Given the description of an element on the screen output the (x, y) to click on. 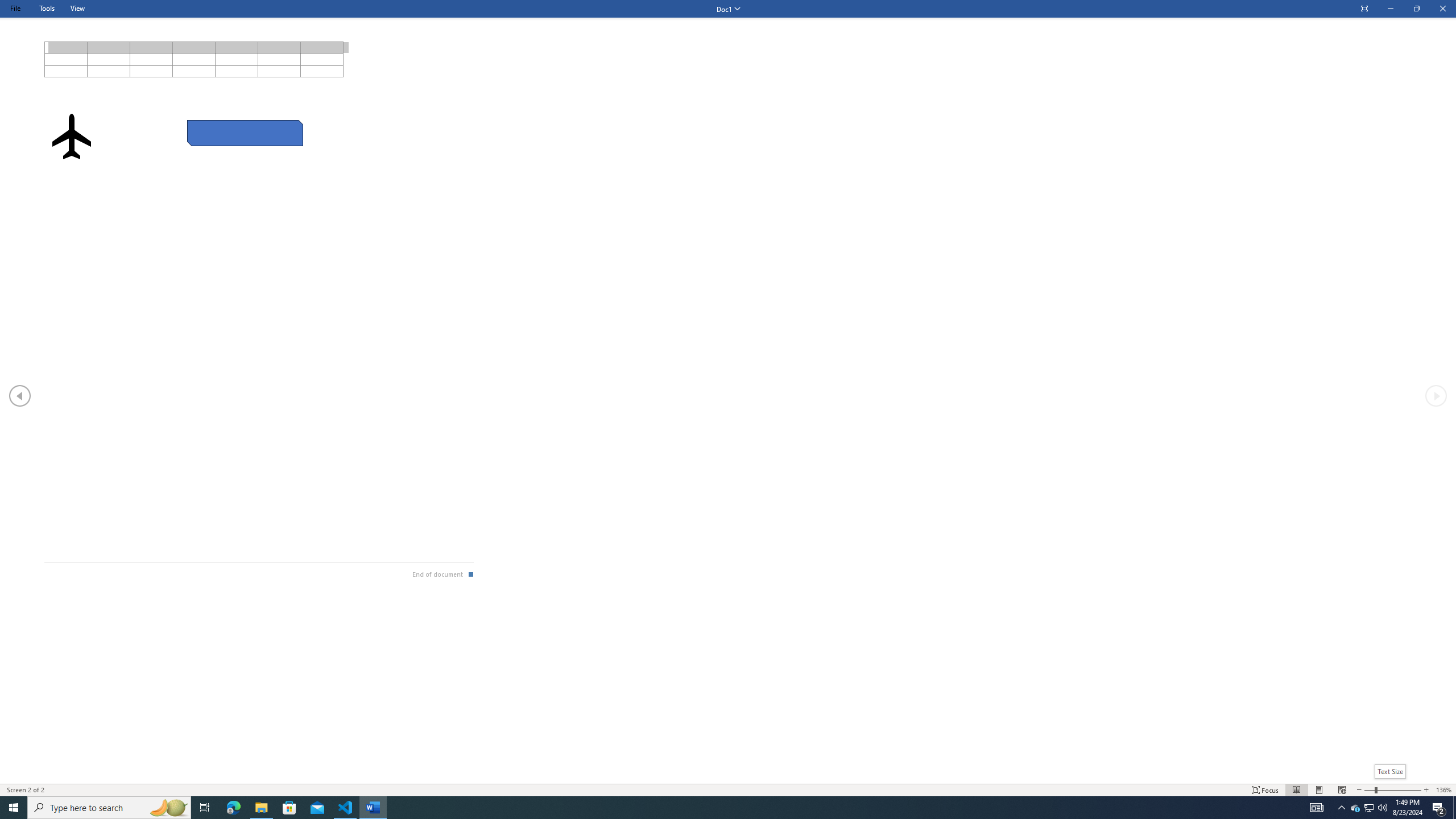
Airplane with solid fill (71, 135)
Increase Text Size (1426, 790)
System (6, 6)
Decrease Text Size (1359, 790)
Auto-hide Reading Toolbar (1364, 9)
Close (1442, 9)
Rectangle: Diagonal Corners Snipped 2 (244, 132)
Tools (46, 8)
View (77, 8)
Web Layout (1342, 790)
Zoom Out (1369, 790)
System (6, 6)
Class: MsoCommandBar (728, 789)
Print Layout (1318, 790)
